Given the description of an element on the screen output the (x, y) to click on. 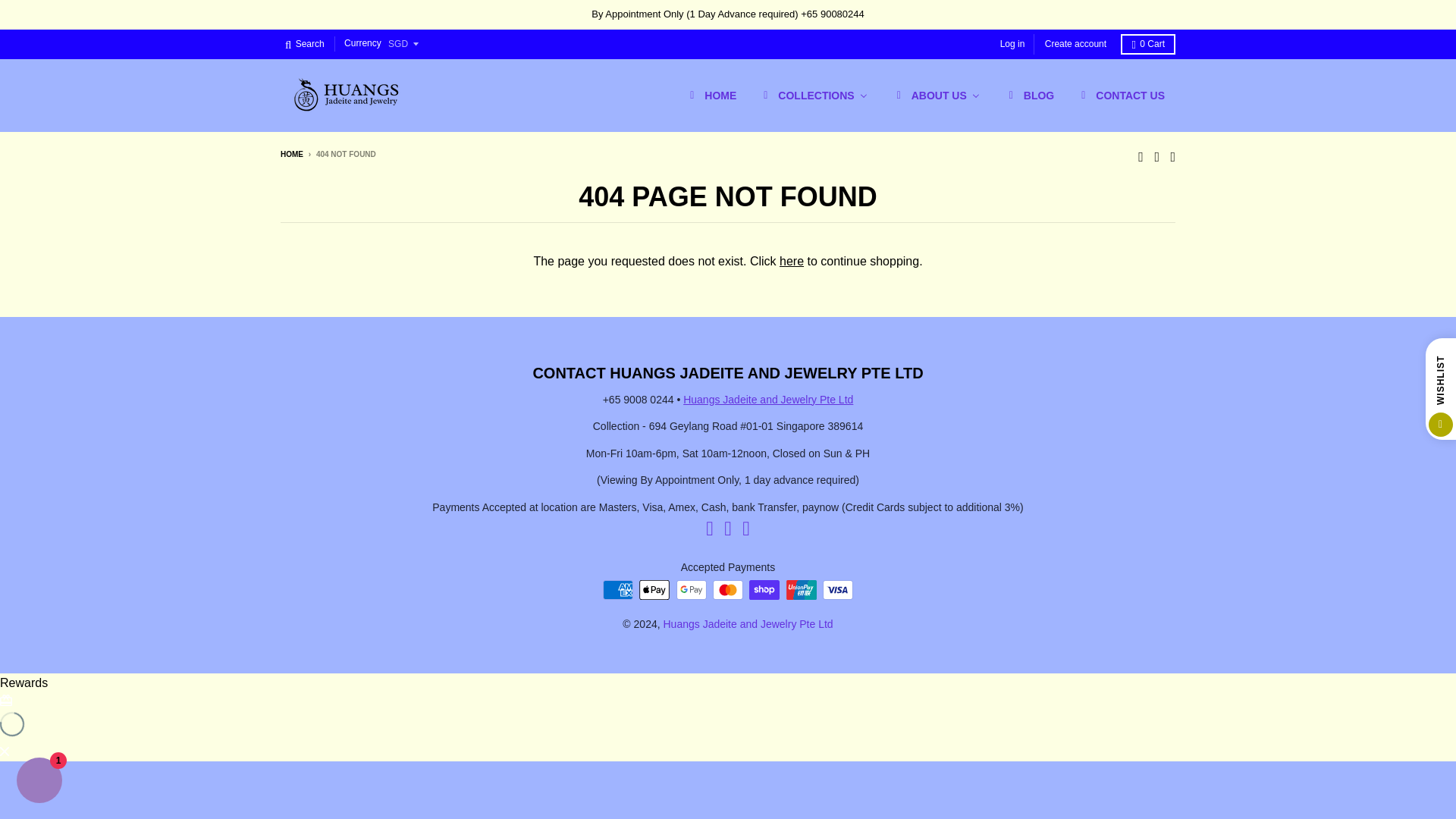
0 Cart (1147, 44)
COLLECTIONS (812, 94)
Create account (1075, 44)
Search (305, 44)
Back to the frontpage (291, 153)
HOME (709, 94)
Log in (1012, 44)
